Given the description of an element on the screen output the (x, y) to click on. 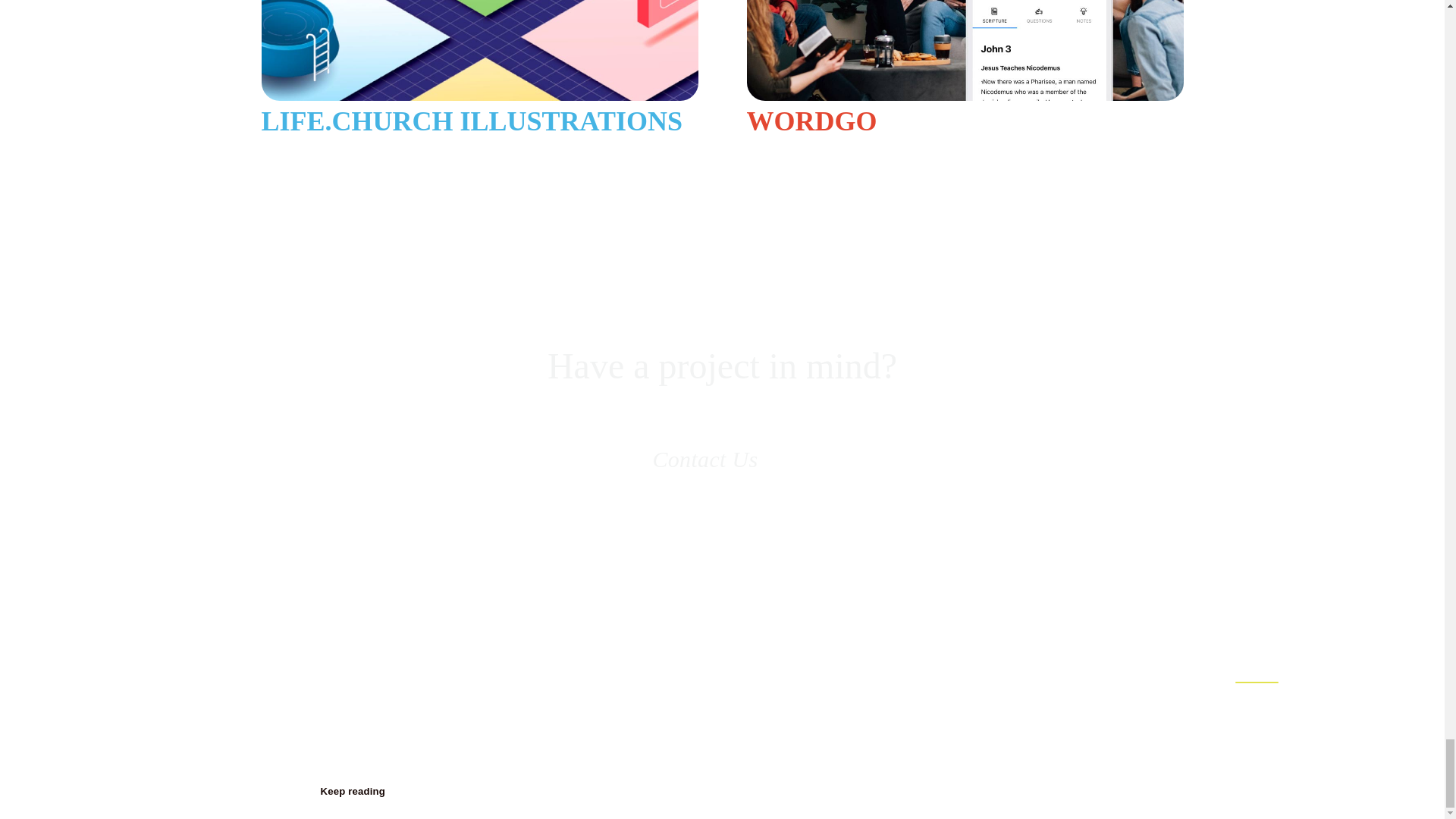
Contact Us (722, 459)
SERVICES (1139, 663)
WORK (1256, 663)
WORDGO (963, 68)
CONTACT (1372, 663)
LIFE.CHURCH ILLUSTRATIONS (478, 68)
ABOUT (1020, 663)
